Given the description of an element on the screen output the (x, y) to click on. 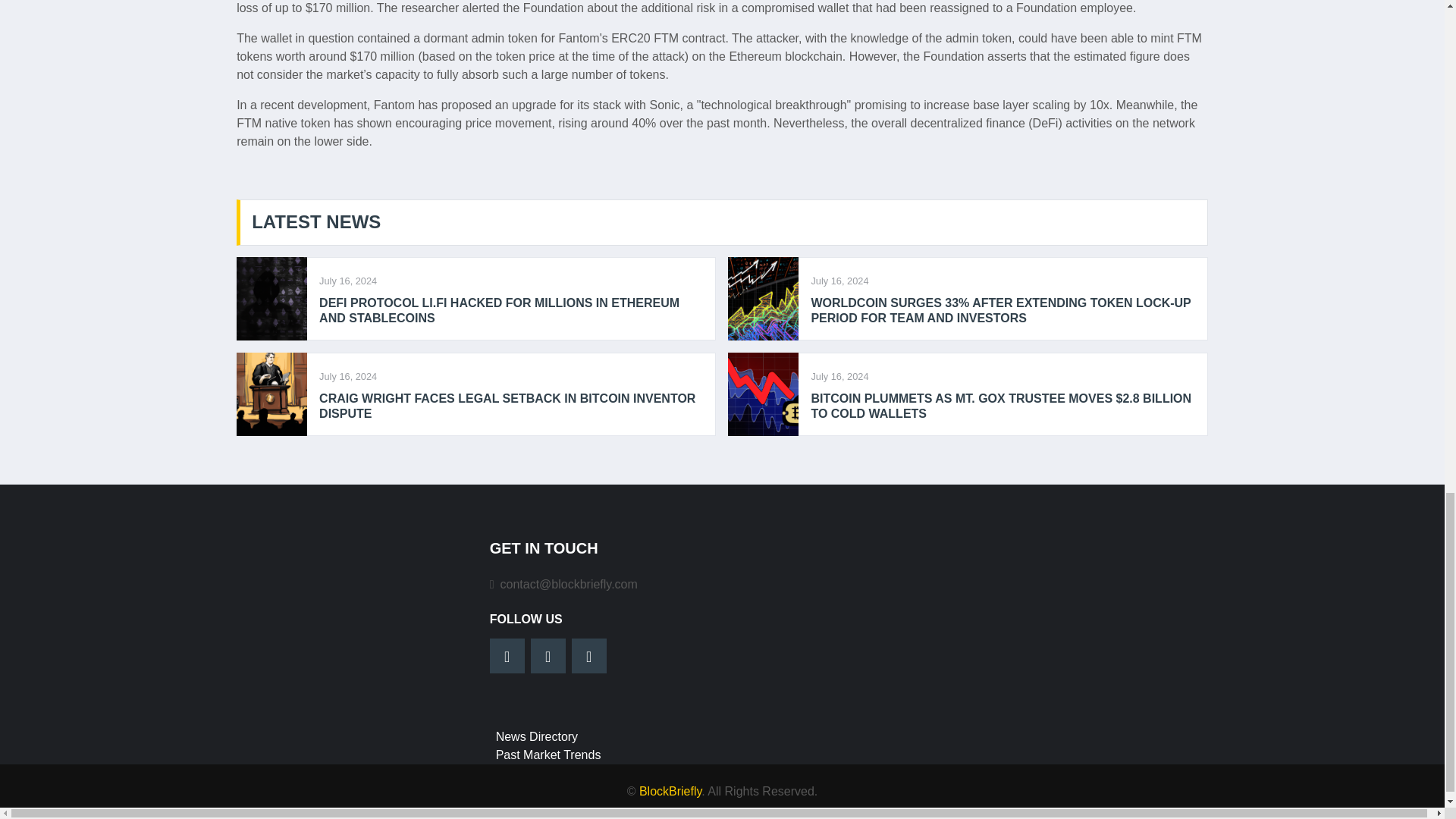
News Directory (537, 736)
July 16, 2024 (838, 279)
CRAIG WRIGHT FACES LEGAL SETBACK IN BITCOIN INVENTOR DISPUTE (510, 405)
BlockBriefly (670, 790)
July 16, 2024 (347, 279)
July 16, 2024 (347, 375)
July 16, 2024 (838, 375)
Past Market Trends (548, 754)
